Given the description of an element on the screen output the (x, y) to click on. 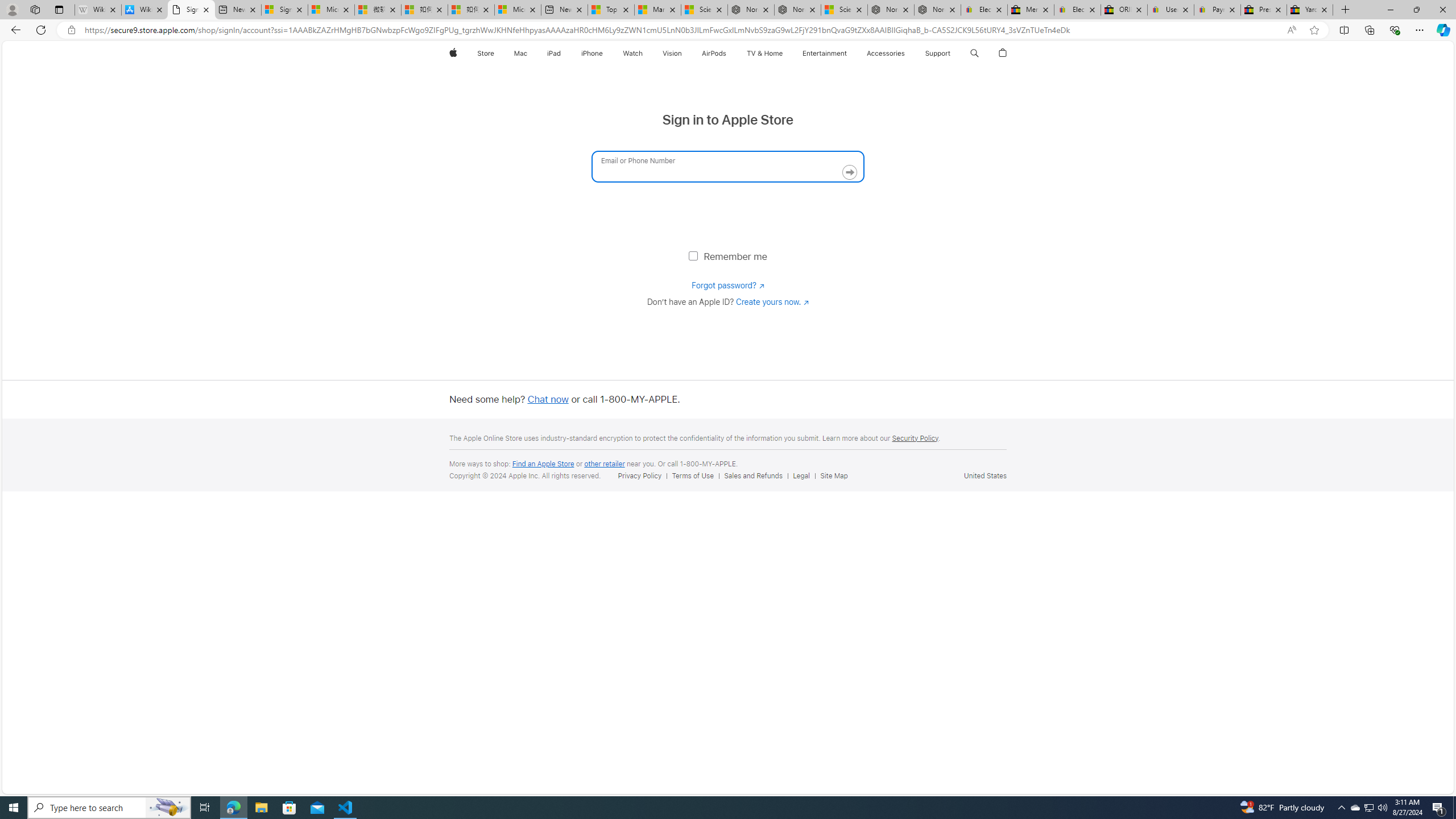
Site Map (834, 475)
Accessories (885, 53)
Sales and Refunds (755, 475)
Class: globalnav-item globalnav-search (973, 53)
Terms of Use (695, 475)
Terms of Use (692, 475)
Security Policy (915, 438)
iPhone (591, 53)
AutomationID: globalnav-bag (1001, 53)
